Given the description of an element on the screen output the (x, y) to click on. 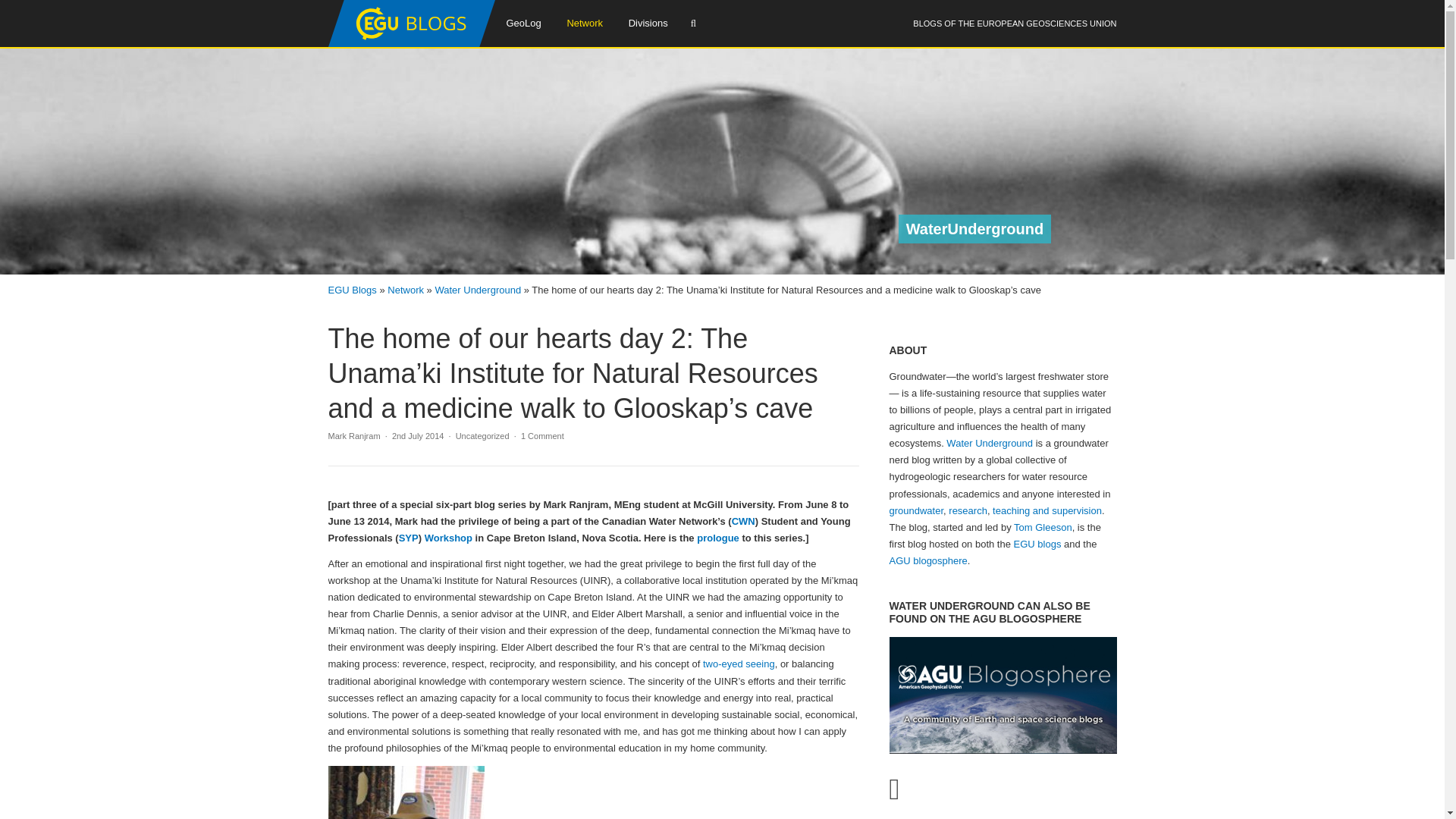
Posts by Mark Ranjram (353, 435)
GeoLog (523, 22)
EUROPEAN GEOSCIENCES UNION (1046, 22)
Network (584, 22)
Divisions (648, 22)
EGU Blogs (411, 43)
